Given the description of an element on the screen output the (x, y) to click on. 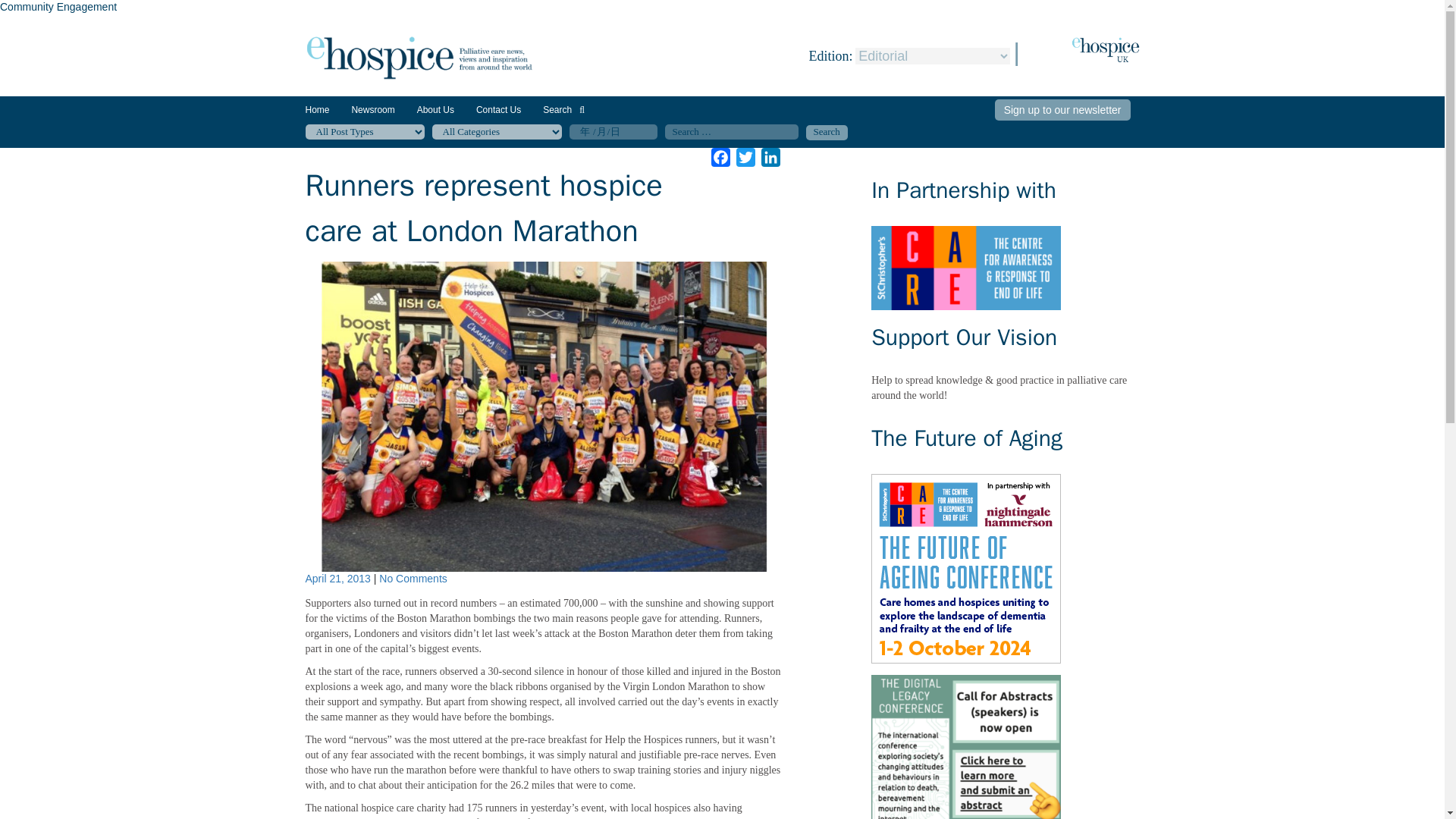
Search (564, 109)
About Us (435, 109)
Contact Us (498, 109)
Search (826, 132)
Home (316, 109)
Twitter (745, 157)
Facebook (720, 157)
Sign up to our newsletter (1062, 109)
LinkedIn (770, 157)
Newsroom (372, 115)
Community Engagement (58, 6)
Search (826, 132)
